Given the description of an element on the screen output the (x, y) to click on. 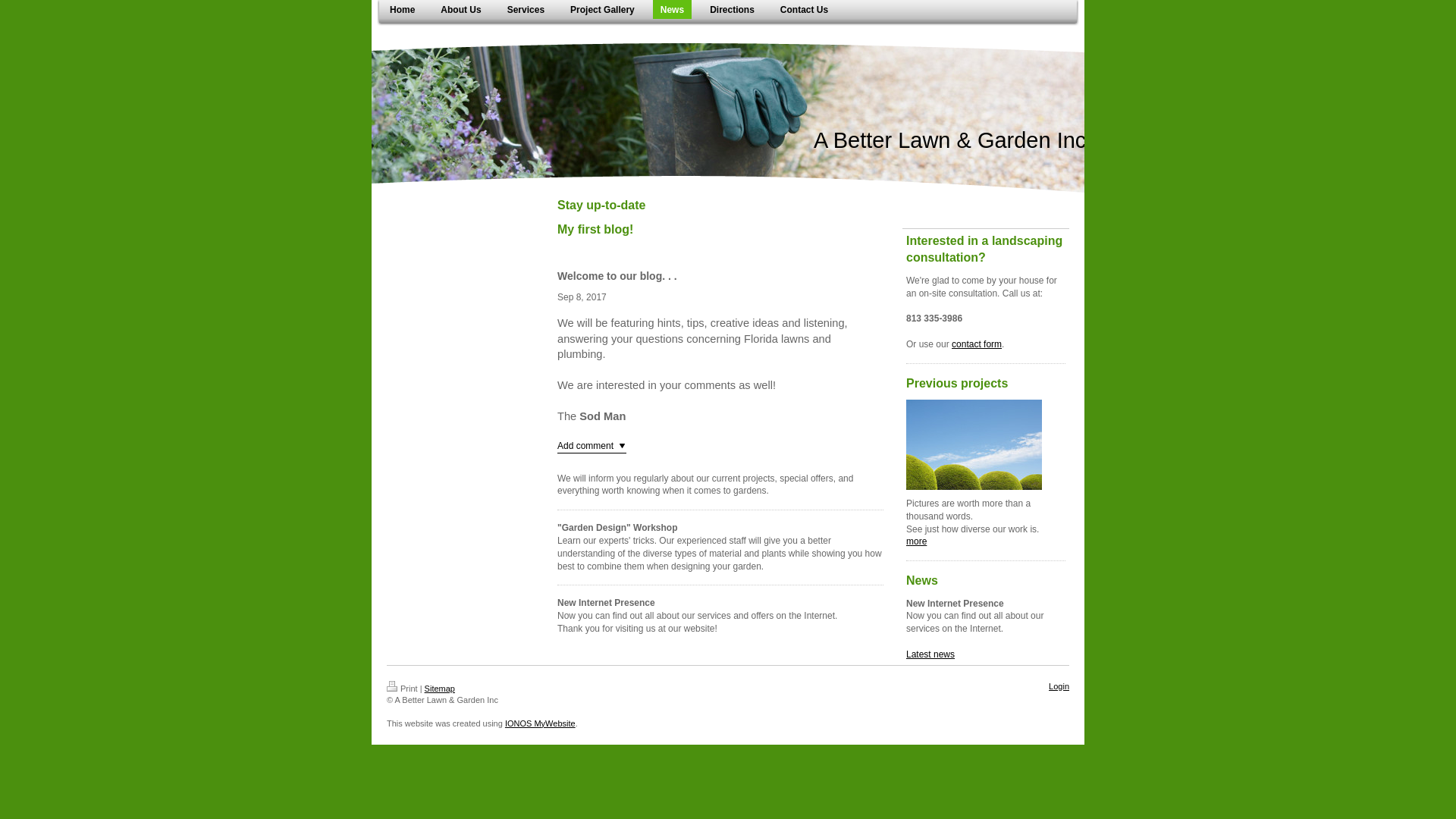
Latest news (930, 654)
Login (1058, 686)
Print (402, 687)
Project Gallery (602, 9)
Directions (731, 9)
IONOS MyWebsite (540, 723)
News (671, 9)
About Us (459, 9)
Sitemap (439, 687)
Services (525, 9)
